Given the description of an element on the screen output the (x, y) to click on. 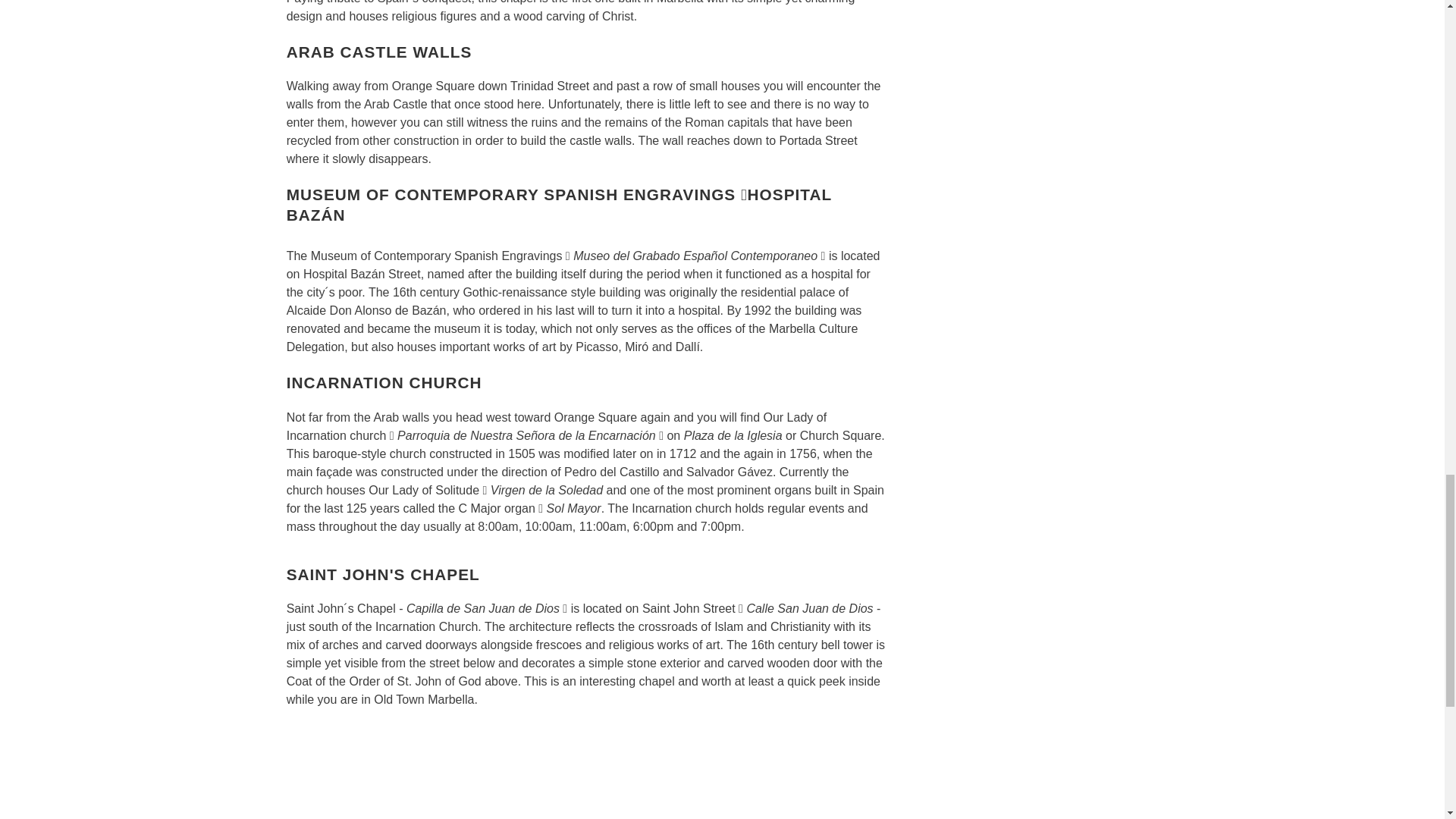
GetYourGuide Widget (585, 770)
